Given the description of an element on the screen output the (x, y) to click on. 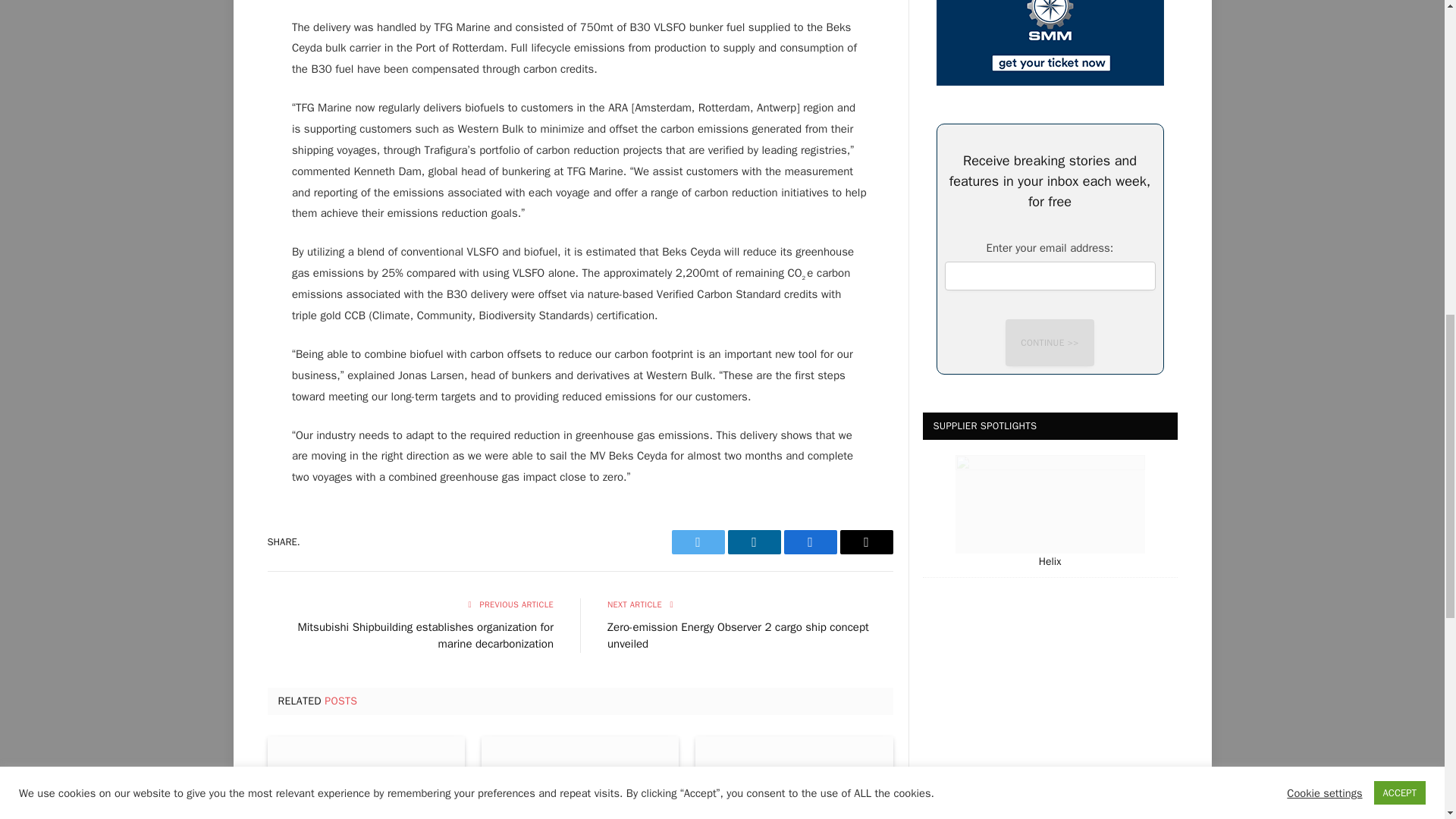
Share on Twitter (698, 541)
